Given the description of an element on the screen output the (x, y) to click on. 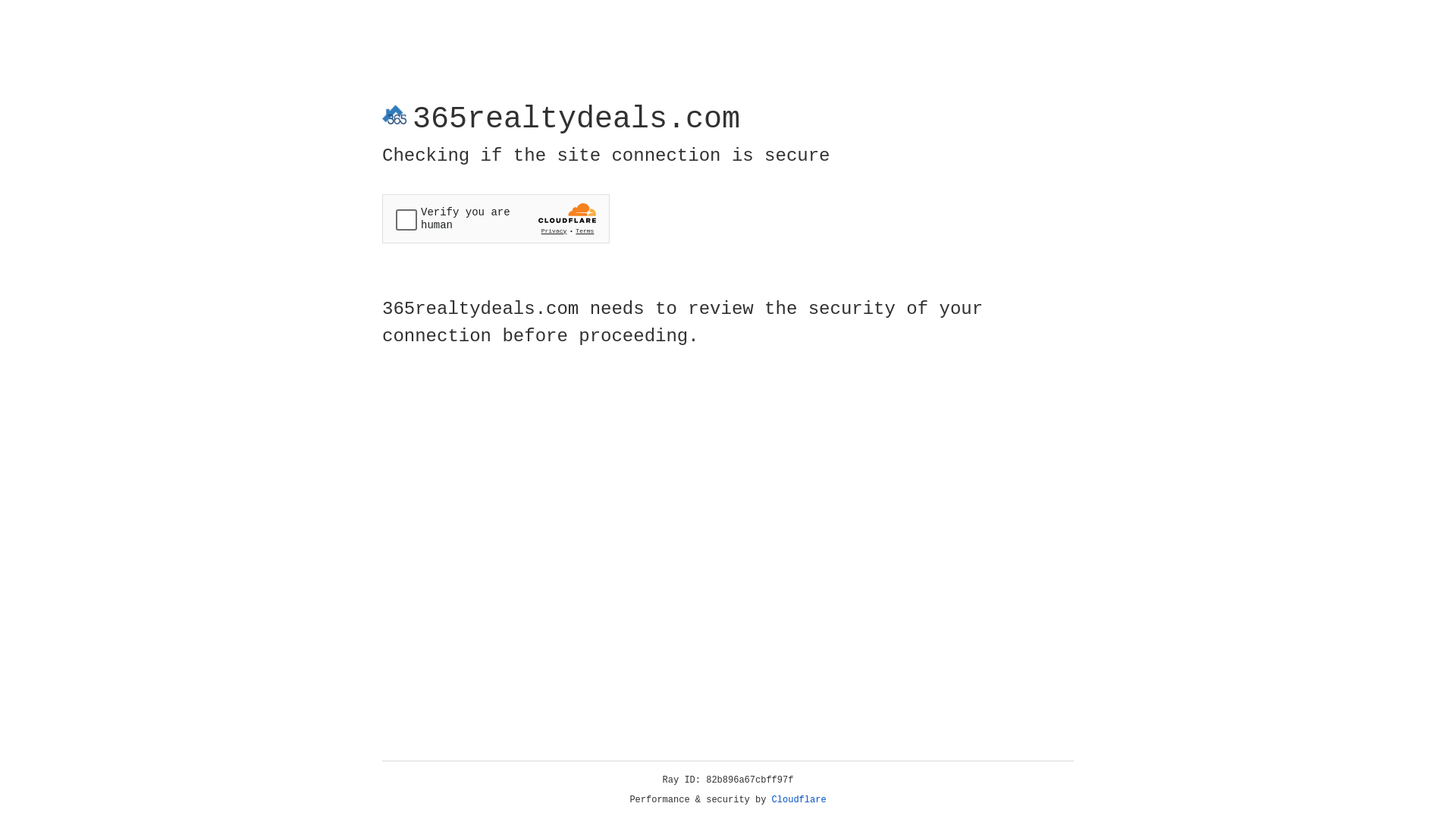
Cloudflare Element type: text (798, 799)
Widget containing a Cloudflare security challenge Element type: hover (495, 218)
